Given the description of an element on the screen output the (x, y) to click on. 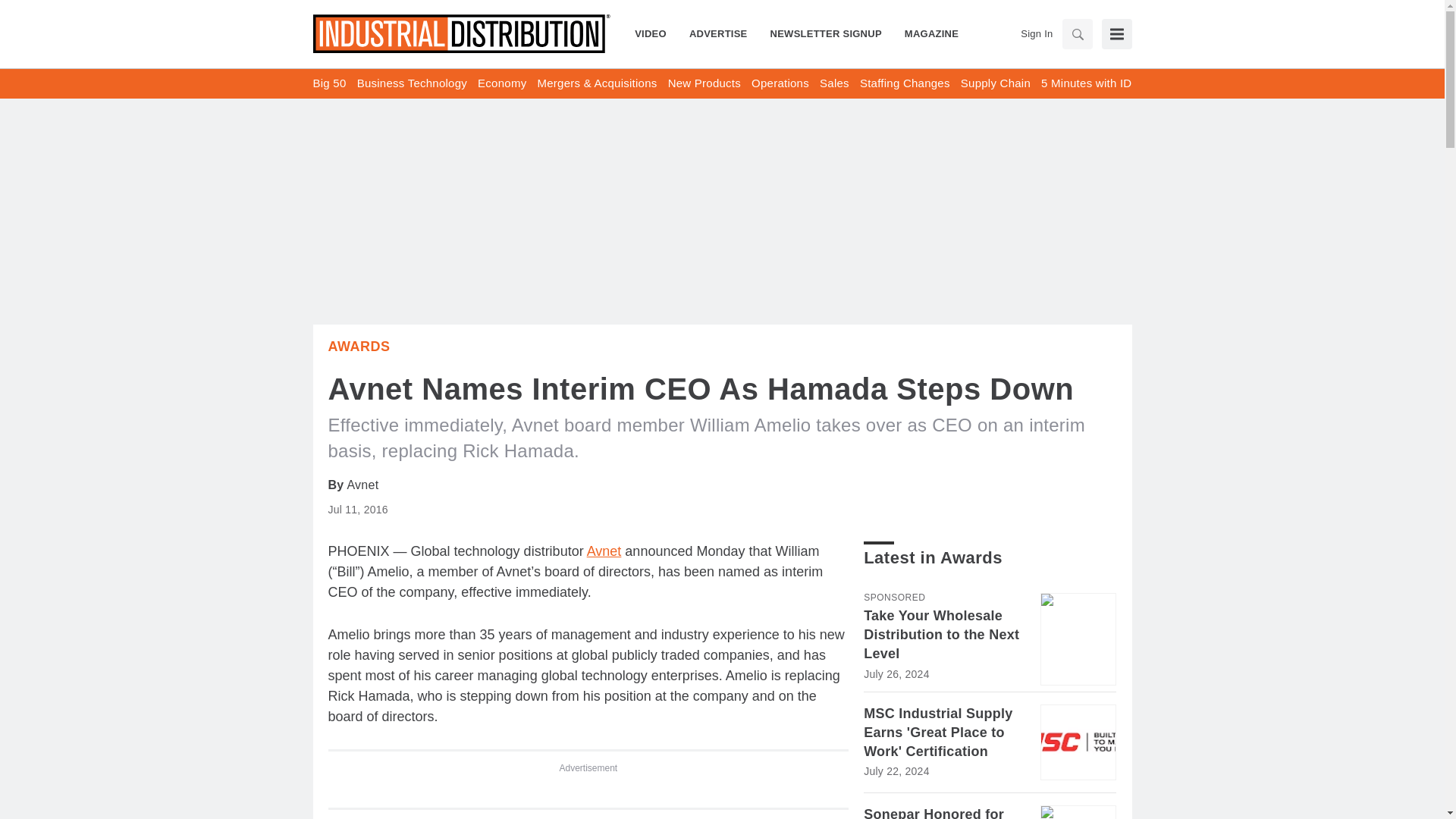
VIDEO (656, 33)
Business Technology (411, 83)
Operations (780, 83)
Supply Chain (995, 83)
Big 50 (329, 83)
Economy (501, 83)
Sign In (1036, 33)
5 Minutes with ID (1086, 83)
New Products (704, 83)
MAGAZINE (925, 33)
ADVERTISE (718, 33)
Staffing Changes (905, 83)
Sales (833, 83)
NEWSLETTER SIGNUP (825, 33)
Sponsored (893, 596)
